Given the description of an element on the screen output the (x, y) to click on. 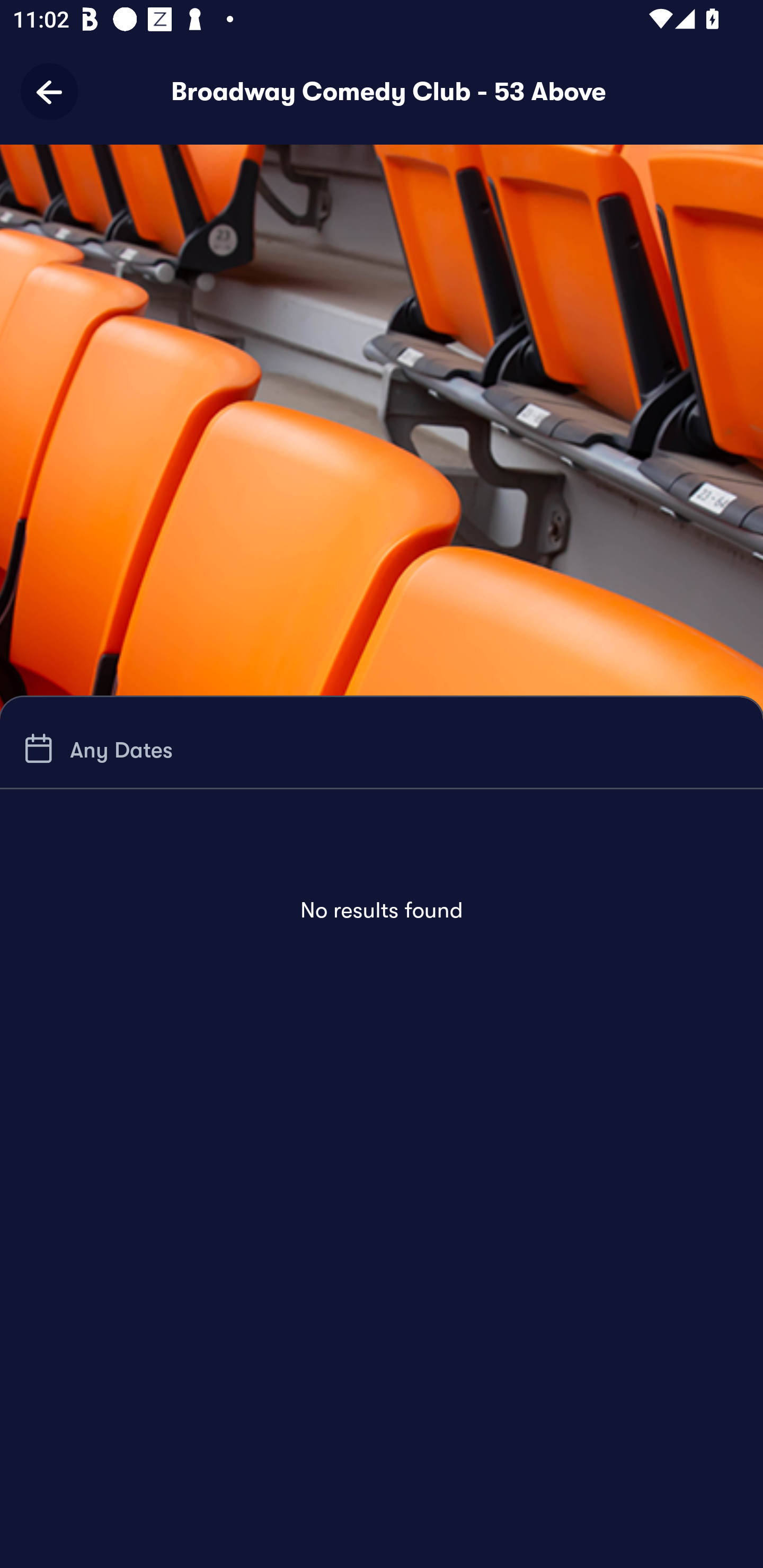
Any Dates (95, 749)
